Given the description of an element on the screen output the (x, y) to click on. 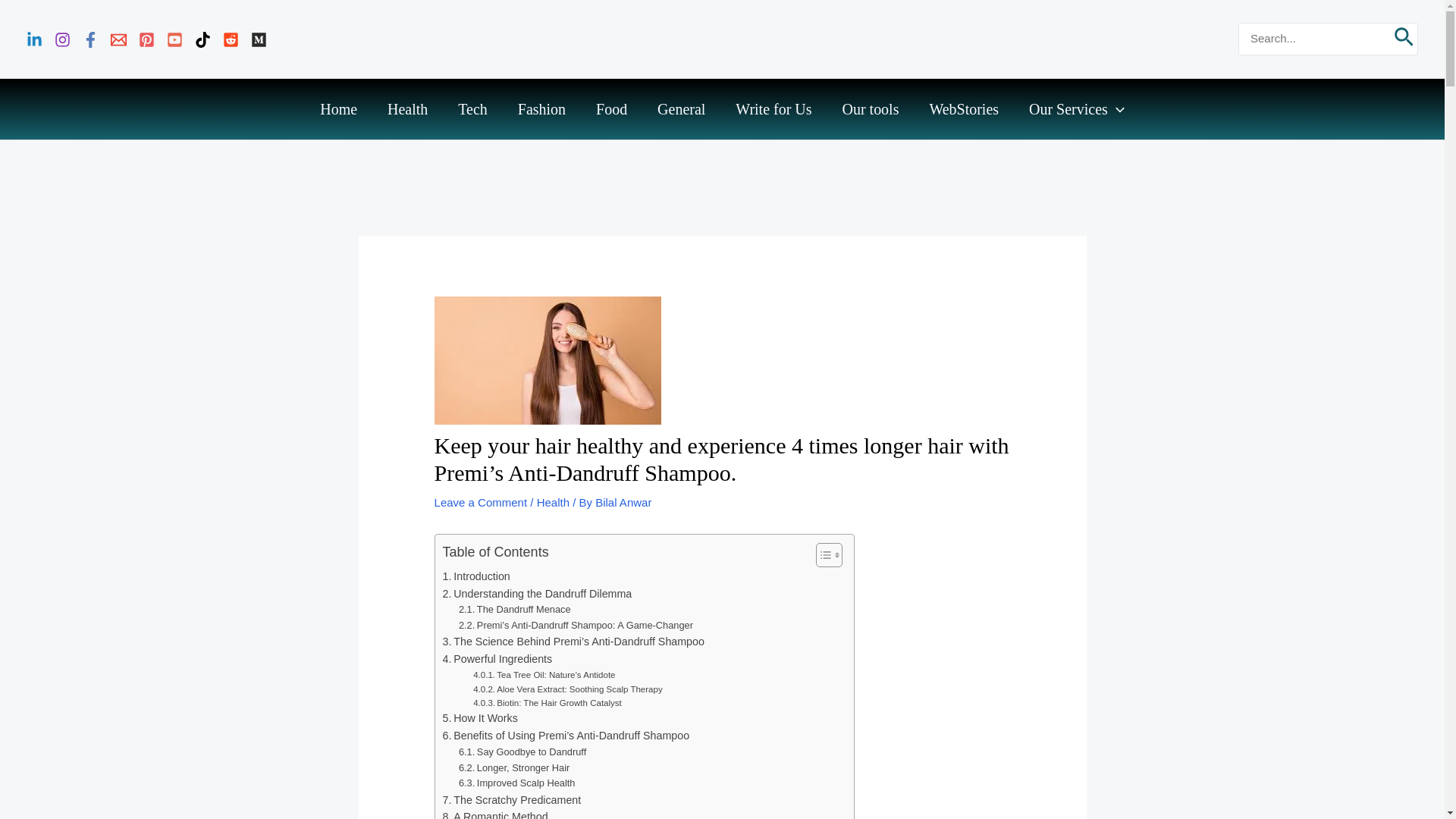
View all posts by Bilal Anwar (622, 502)
Say Goodbye to Dandruff (522, 752)
Fashion (541, 108)
Powerful Ingredients  (497, 659)
Understanding the Dandruff Dilemma (536, 593)
Our Services (1076, 108)
Health (553, 502)
Leave a Comment (480, 502)
Food (611, 108)
WebStories (963, 108)
Tech (472, 108)
Introduction (476, 576)
Aloe Vera Extract: Soothing Scalp Therapy  (567, 689)
Longer, Stronger Hair  (513, 768)
How It Works   (480, 718)
